Given the description of an element on the screen output the (x, y) to click on. 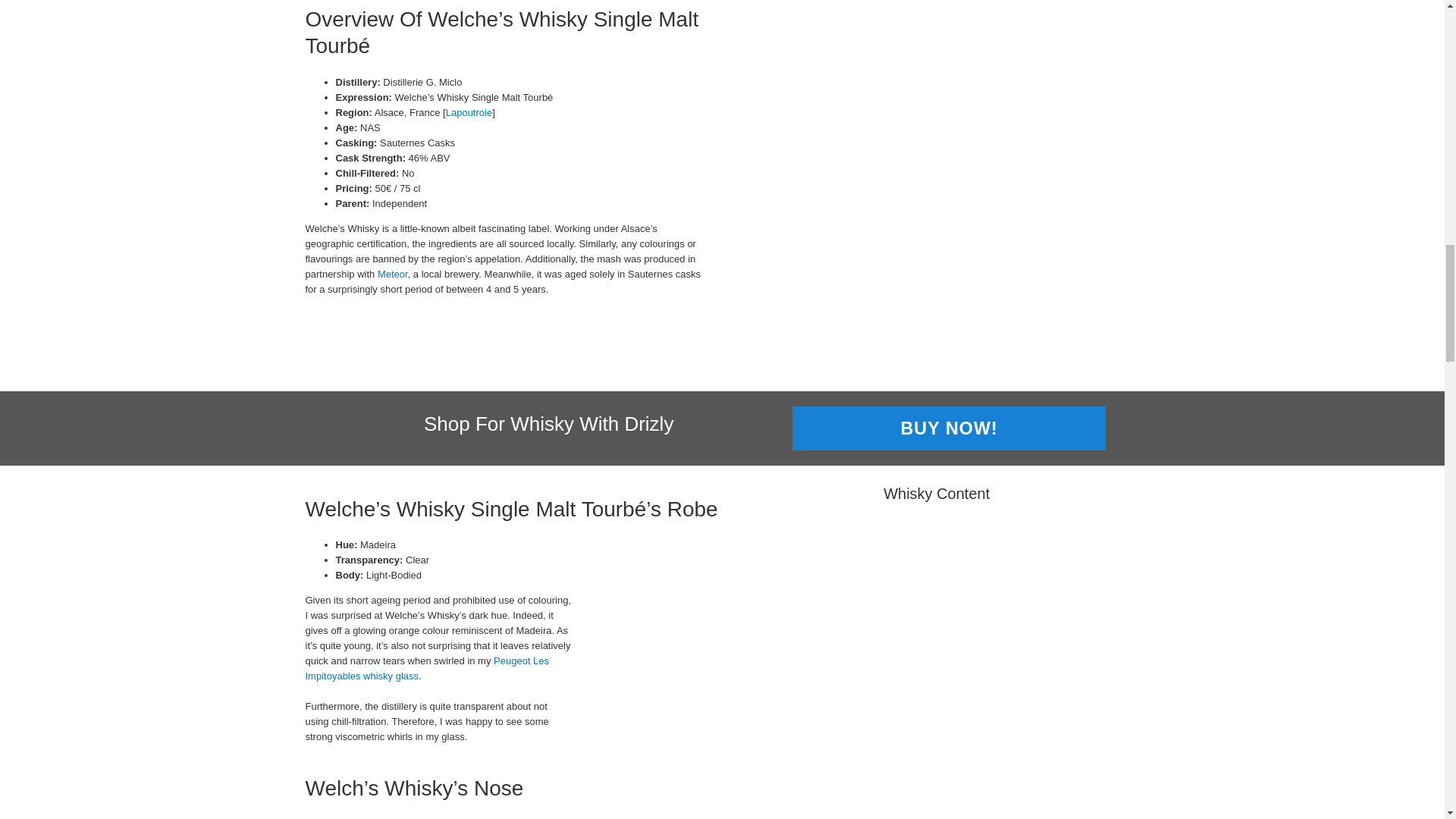
Lapoutroie (468, 112)
